Given the description of an element on the screen output the (x, y) to click on. 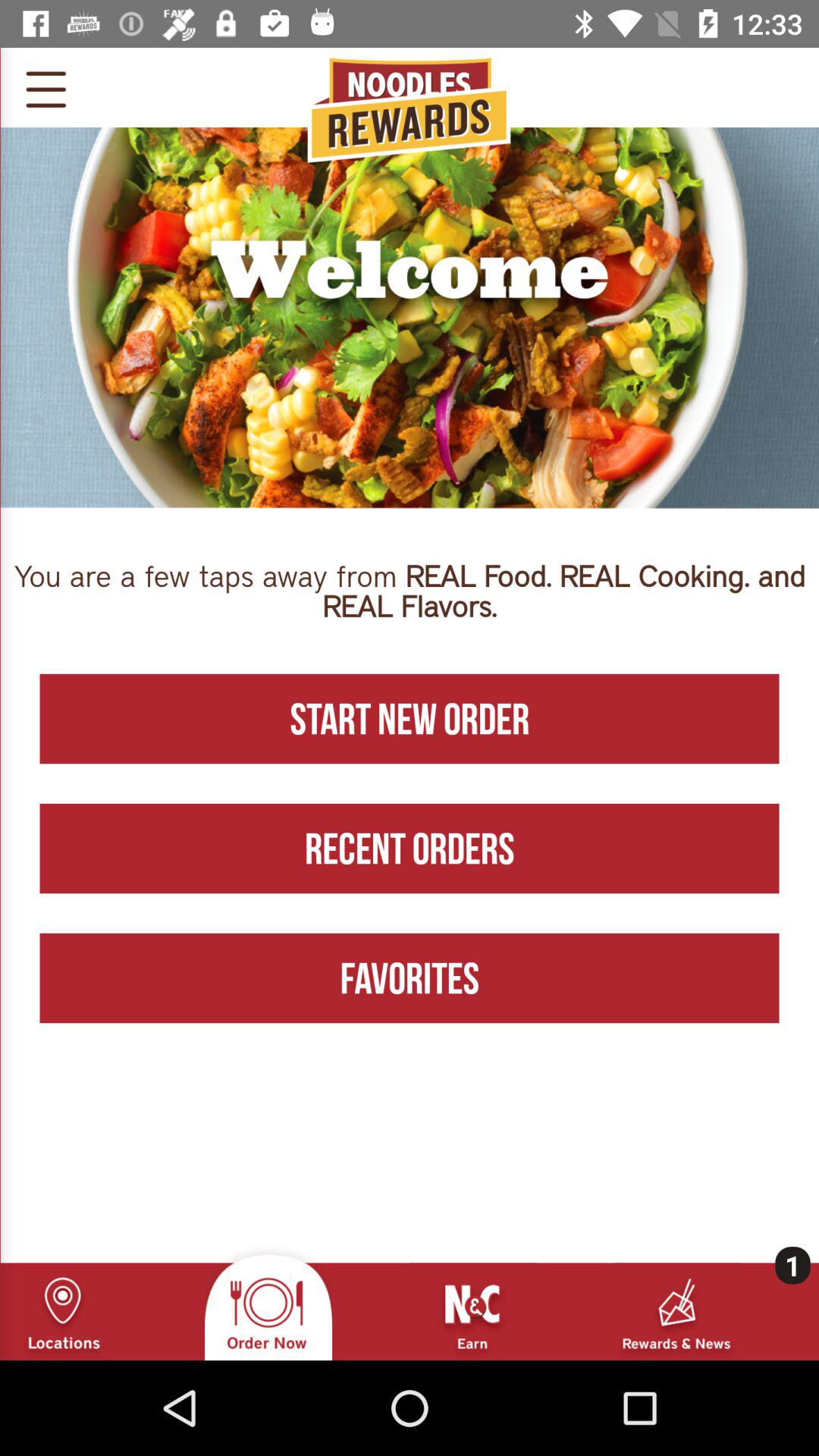
open menu (45, 87)
